Given the description of an element on the screen output the (x, y) to click on. 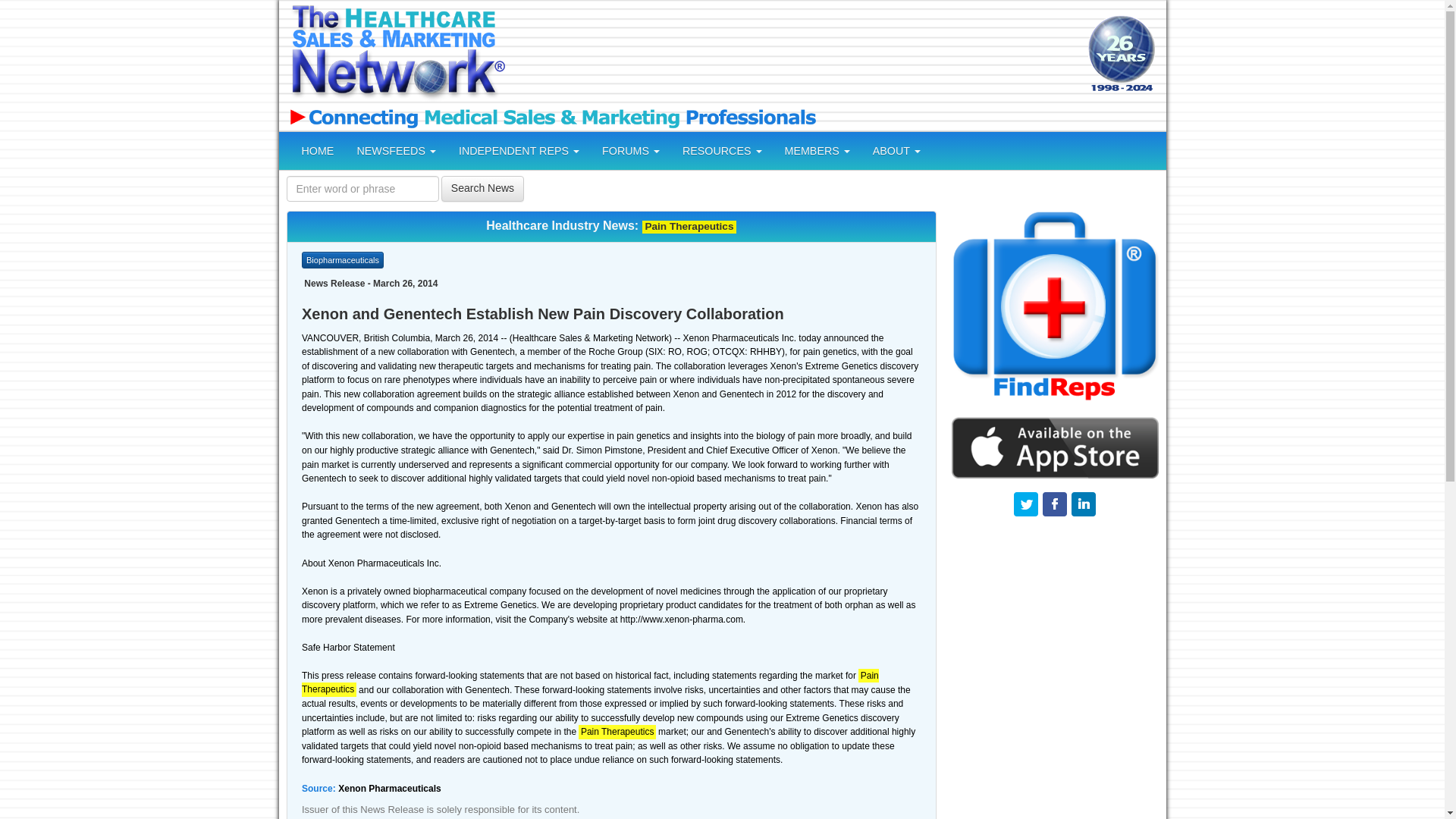
RESOURCES  (722, 150)
HOME (317, 150)
NEWSFEEDS  (395, 150)
Search News (482, 188)
FORUMS  (631, 150)
INDEPENDENT REPS  (518, 150)
Advertisement (794, 55)
